Given the description of an element on the screen output the (x, y) to click on. 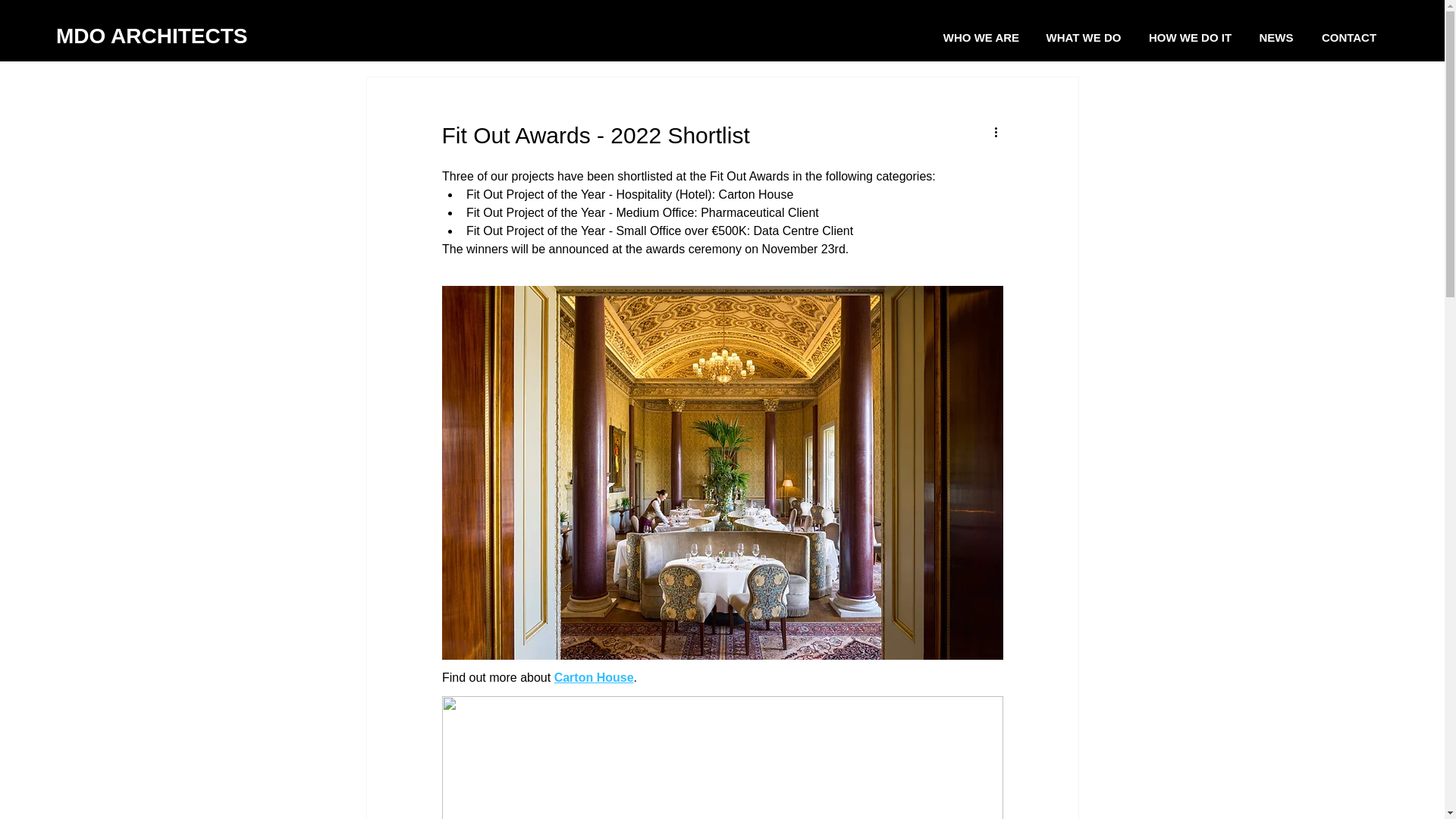
NEWS (1275, 38)
CONTACT (1348, 38)
MDO ARCHITECTS (151, 35)
WHO WE ARE (981, 38)
Carton House (593, 676)
